Given the description of an element on the screen output the (x, y) to click on. 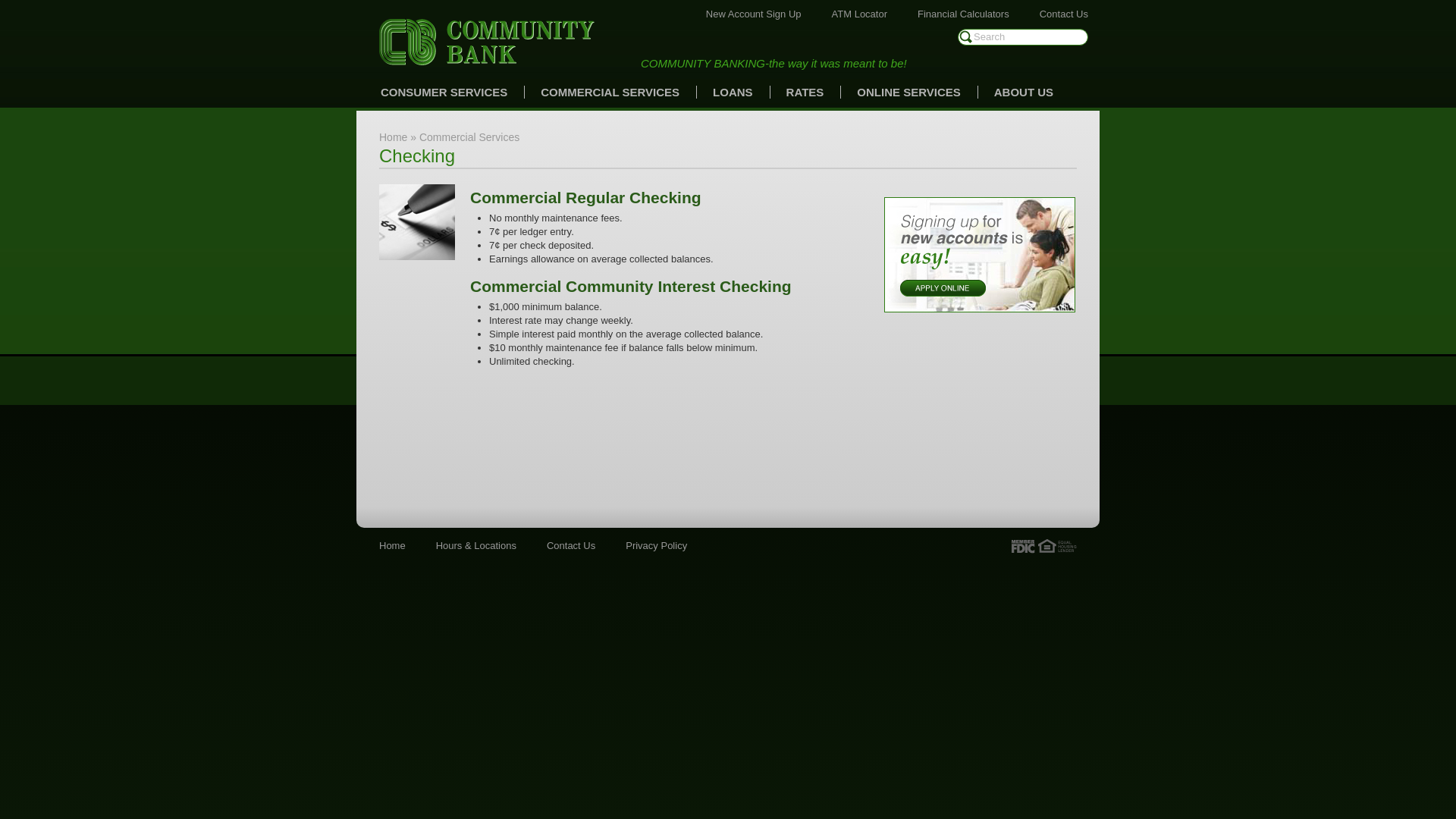
Financial Calculators Element type: text (963, 13)
Privacy Policy Element type: text (656, 545)
Contact Us Element type: text (1063, 13)
Hours & Locations Element type: text (476, 545)
New Account Sign Up Element type: text (753, 13)
Contact Us Element type: text (570, 545)
ATM Locator Element type: text (859, 13)
RATES Element type: text (804, 91)
Home Element type: text (392, 545)
Community Bank of Marshall Element type: text (487, 41)
